Given the description of an element on the screen output the (x, y) to click on. 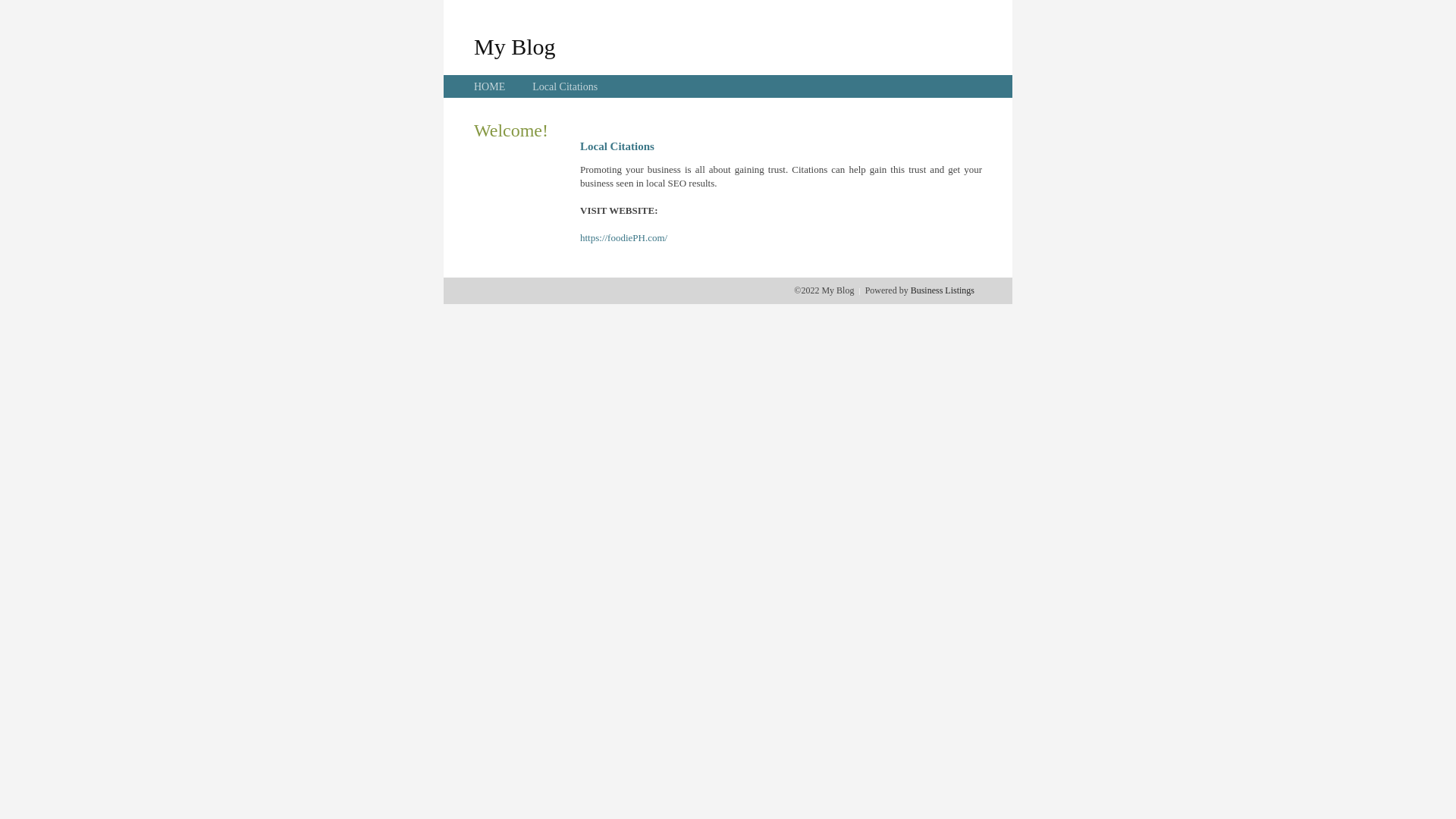
https://foodiePH.com/ Element type: text (623, 237)
My Blog Element type: text (514, 46)
Business Listings Element type: text (942, 290)
HOME Element type: text (489, 86)
Local Citations Element type: text (564, 86)
